Given the description of an element on the screen output the (x, y) to click on. 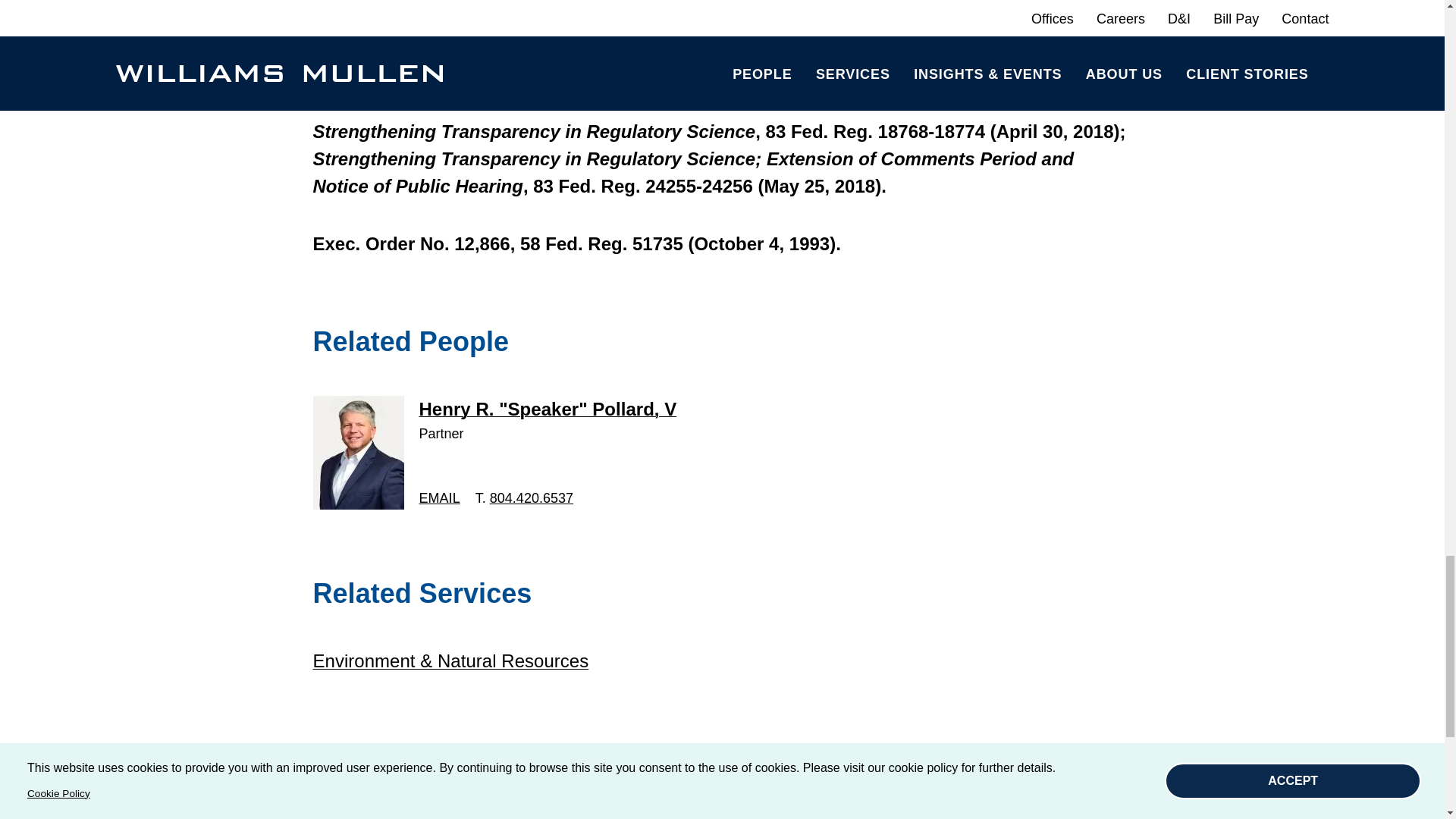
Subscribe (828, 798)
EMAIL (439, 498)
804.420.6537 (531, 498)
Get in Touch (631, 798)
Henry R. "Speaker" Pollard, V (548, 408)
